Given the description of an element on the screen output the (x, y) to click on. 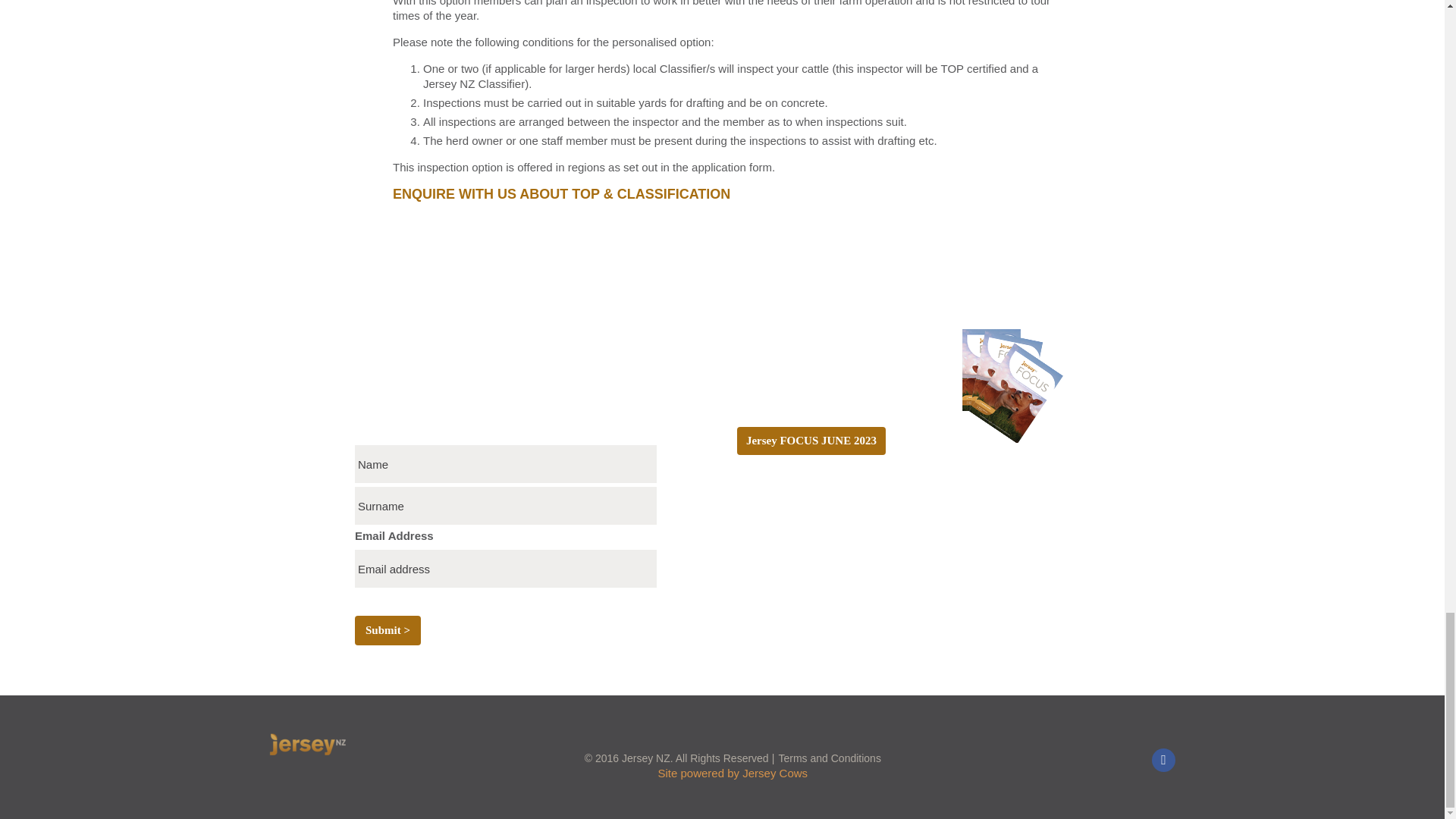
Jersery (347, 745)
Jersey FOCUS JUNE 2023 (810, 440)
Terms and Conditions (828, 758)
